Given the description of an element on the screen output the (x, y) to click on. 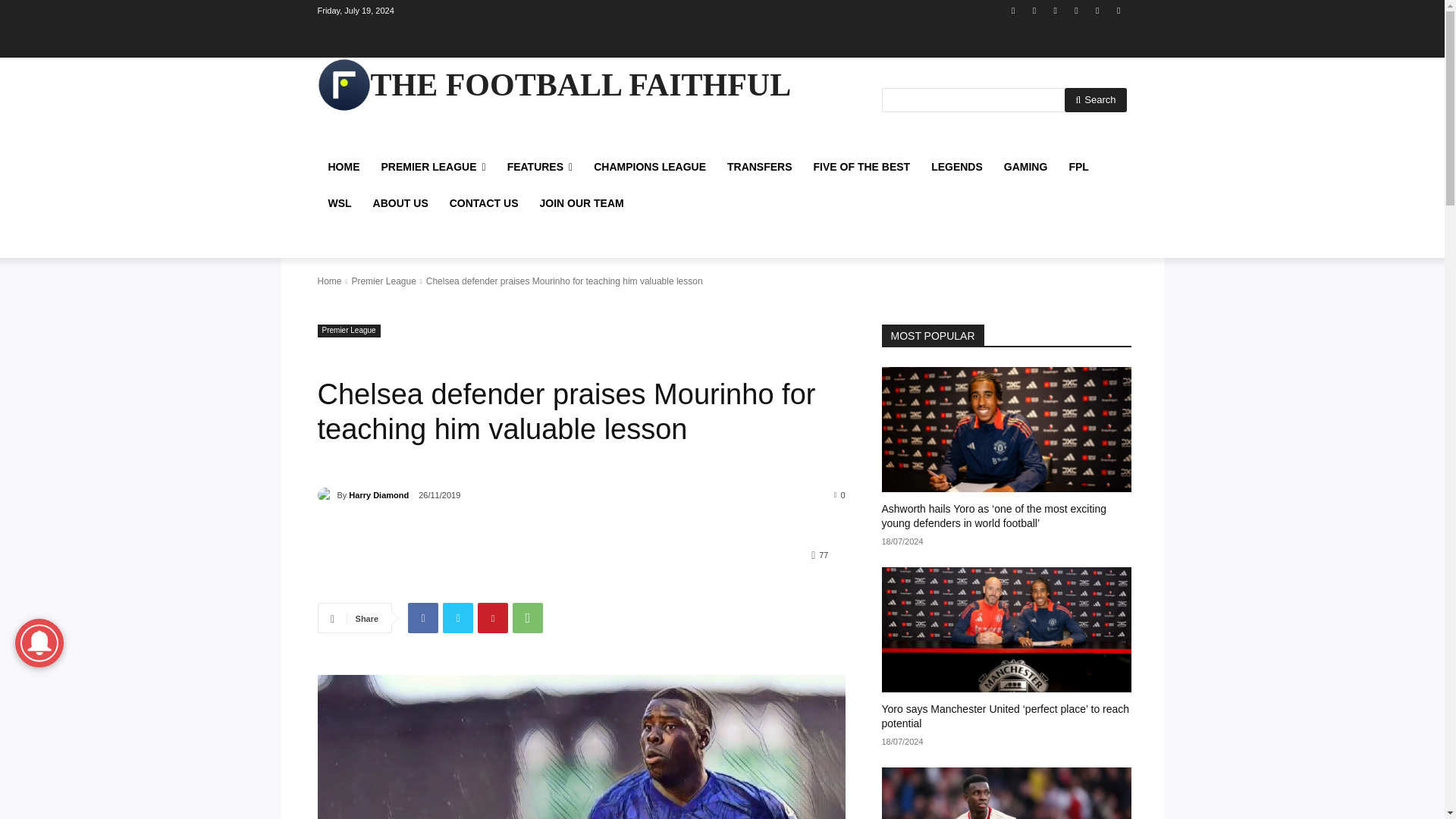
Youtube (1117, 9)
Instagram (1034, 9)
View all posts in Premier League (382, 281)
TikTok (1075, 9)
Twitter (1097, 9)
Facebook (1013, 9)
RSS (1055, 9)
